Given the description of an element on the screen output the (x, y) to click on. 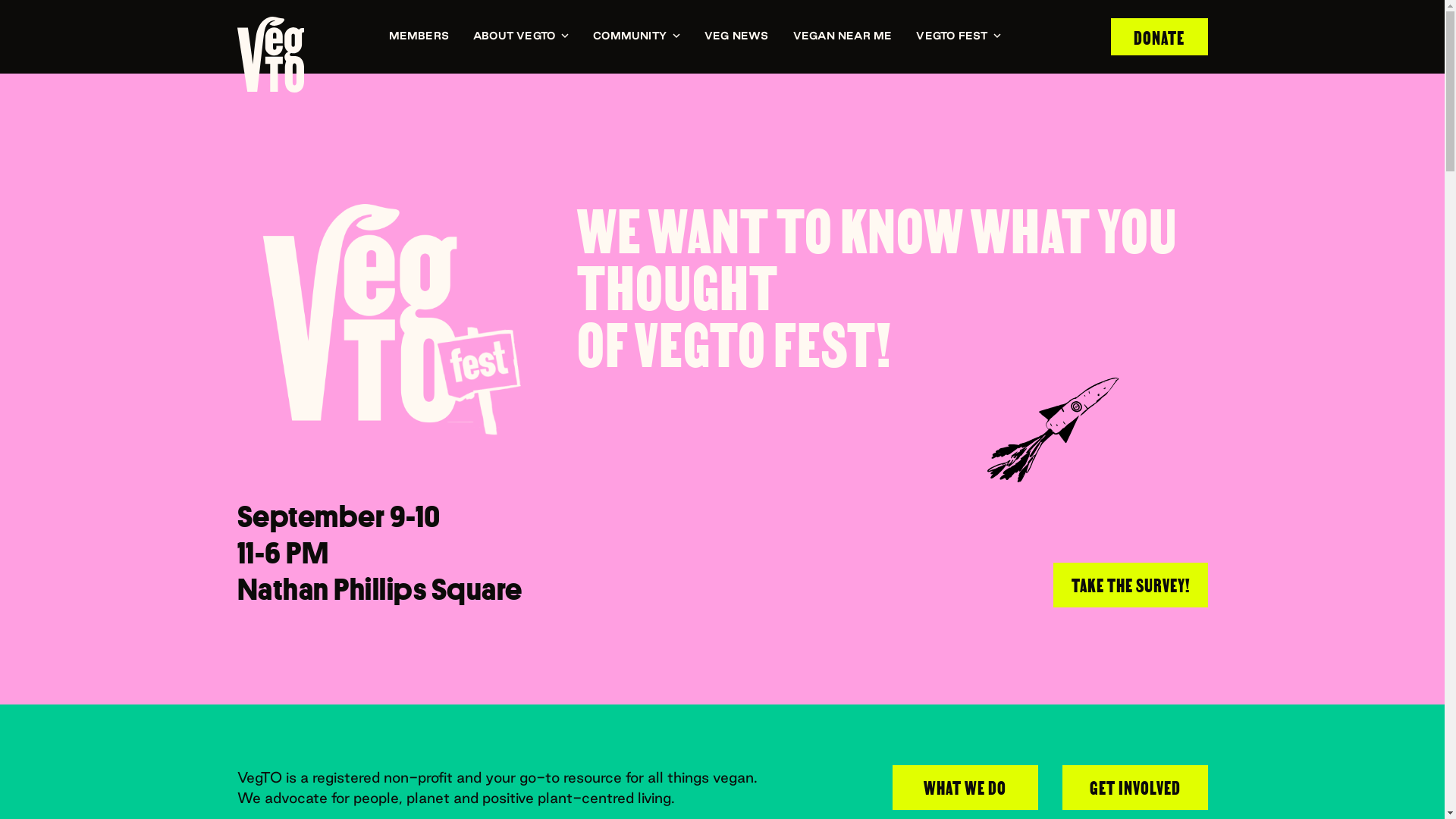
MEMBERS Element type: text (418, 36)
DONATE Element type: text (1158, 36)
WHAT WE DO Element type: text (964, 787)
GET INVOLVED Element type: text (1134, 787)
VEG NEWS Element type: text (736, 36)
dropdown arrow icon Element type: hover (997, 35)
dropdown arrow icon Element type: hover (676, 35)
VEGAN NEAR ME Element type: text (842, 36)
dropdown arrow icon Element type: hover (564, 35)
TAKE THE SURVEY! Element type: text (1129, 584)
